Given the description of an element on the screen output the (x, y) to click on. 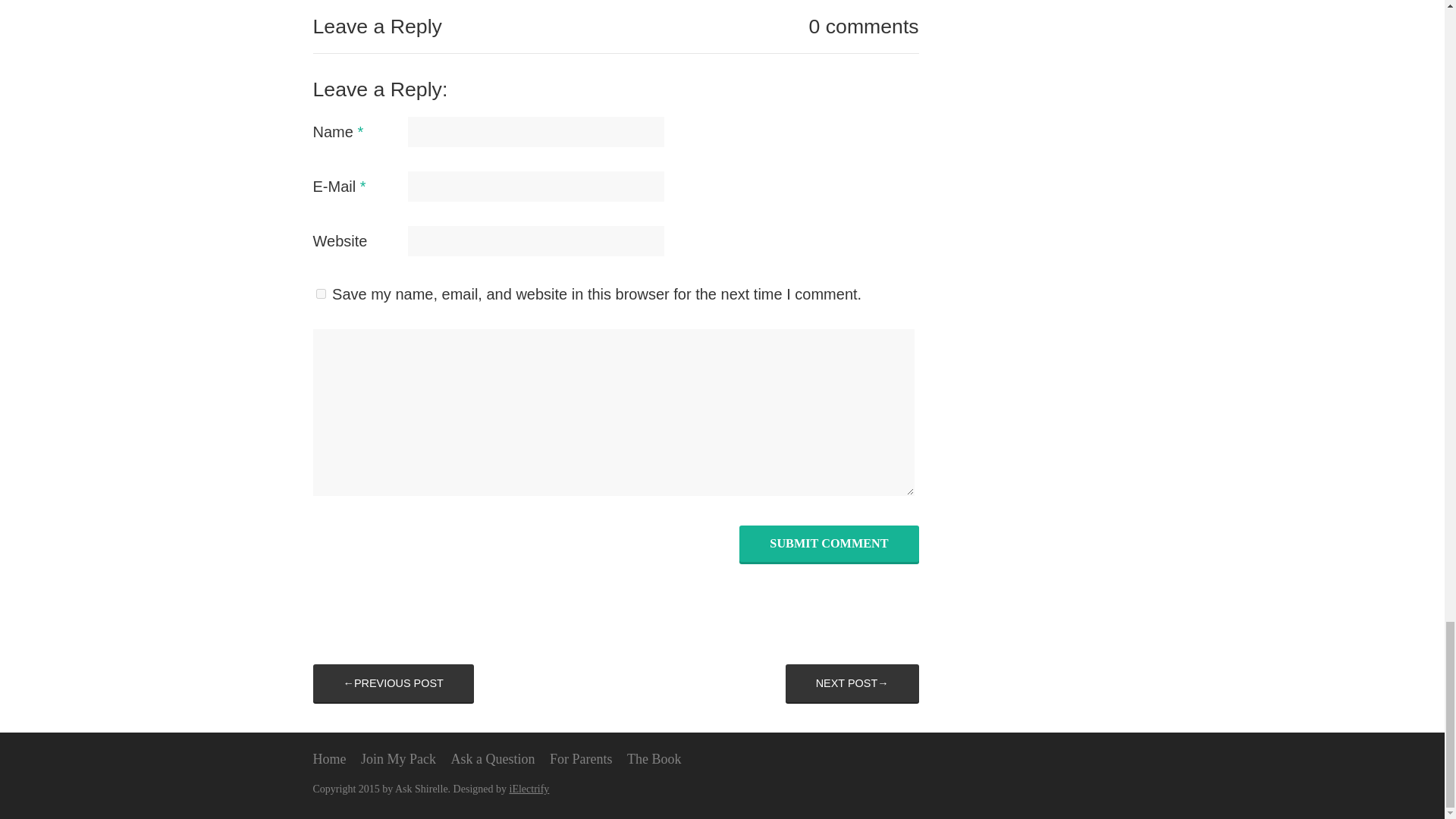
SUBMIT COMMENT (828, 543)
SUBMIT COMMENT (828, 543)
yes (319, 293)
